Given the description of an element on the screen output the (x, y) to click on. 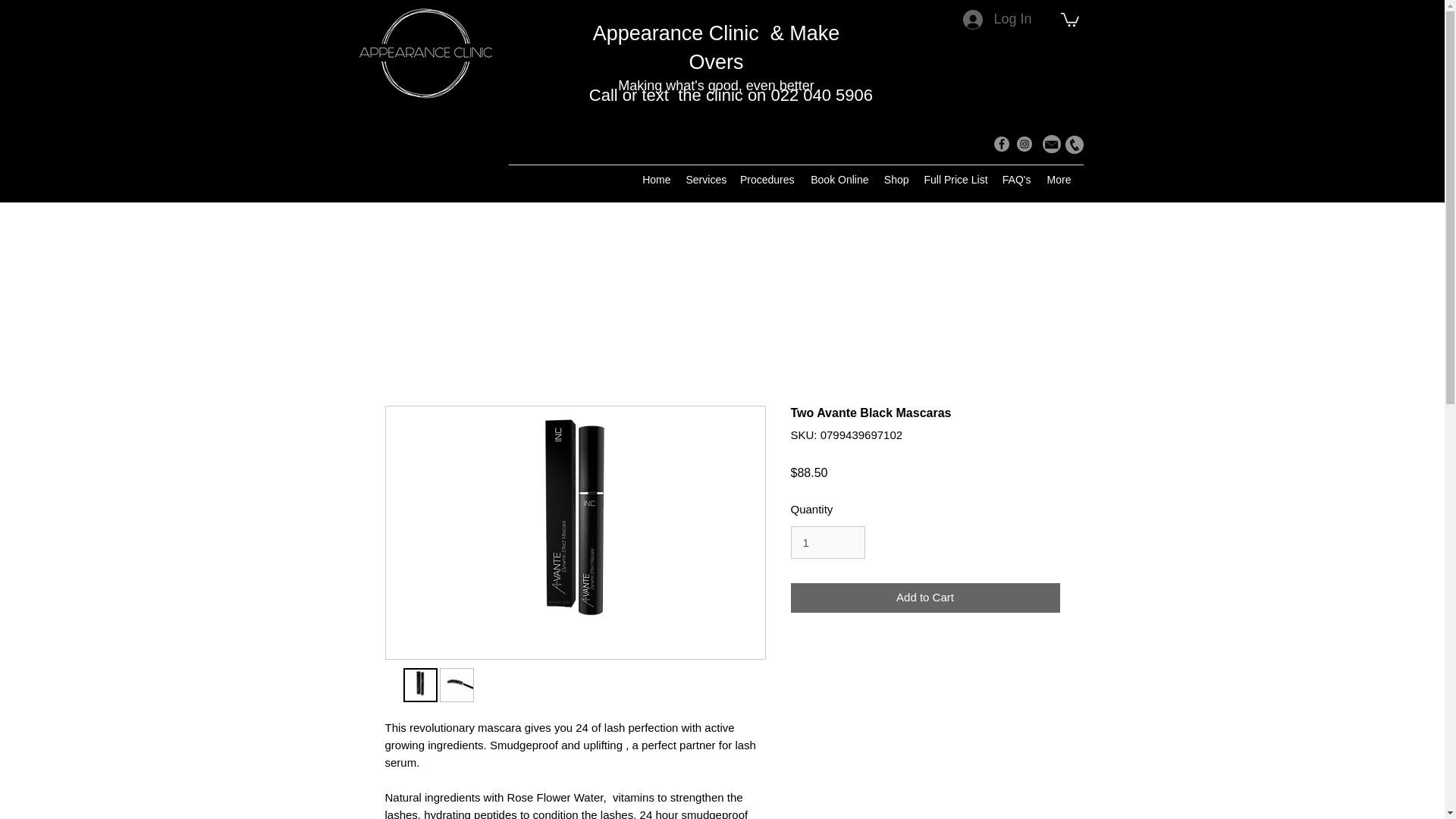
Book Online (839, 179)
1 (827, 542)
Log In (997, 19)
Home (655, 179)
Services (705, 179)
Add to Cart (924, 597)
FAQ's (1015, 179)
Full Price List (953, 179)
Shop (896, 179)
